Given the description of an element on the screen output the (x, y) to click on. 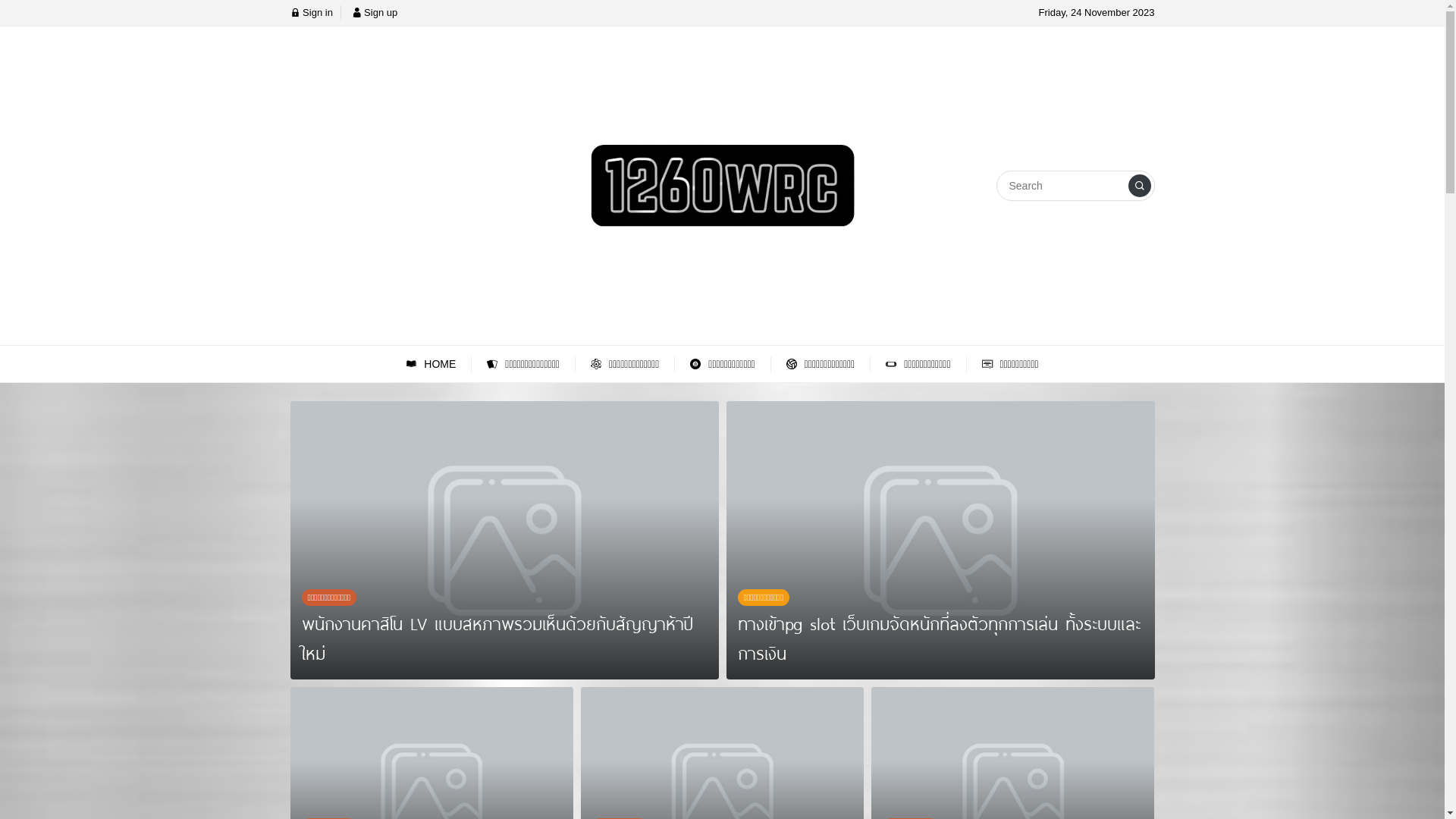
Sign in Element type: text (310, 12)
HOME Element type: text (430, 363)
Sign up Element type: text (374, 12)
